Given the description of an element on the screen output the (x, y) to click on. 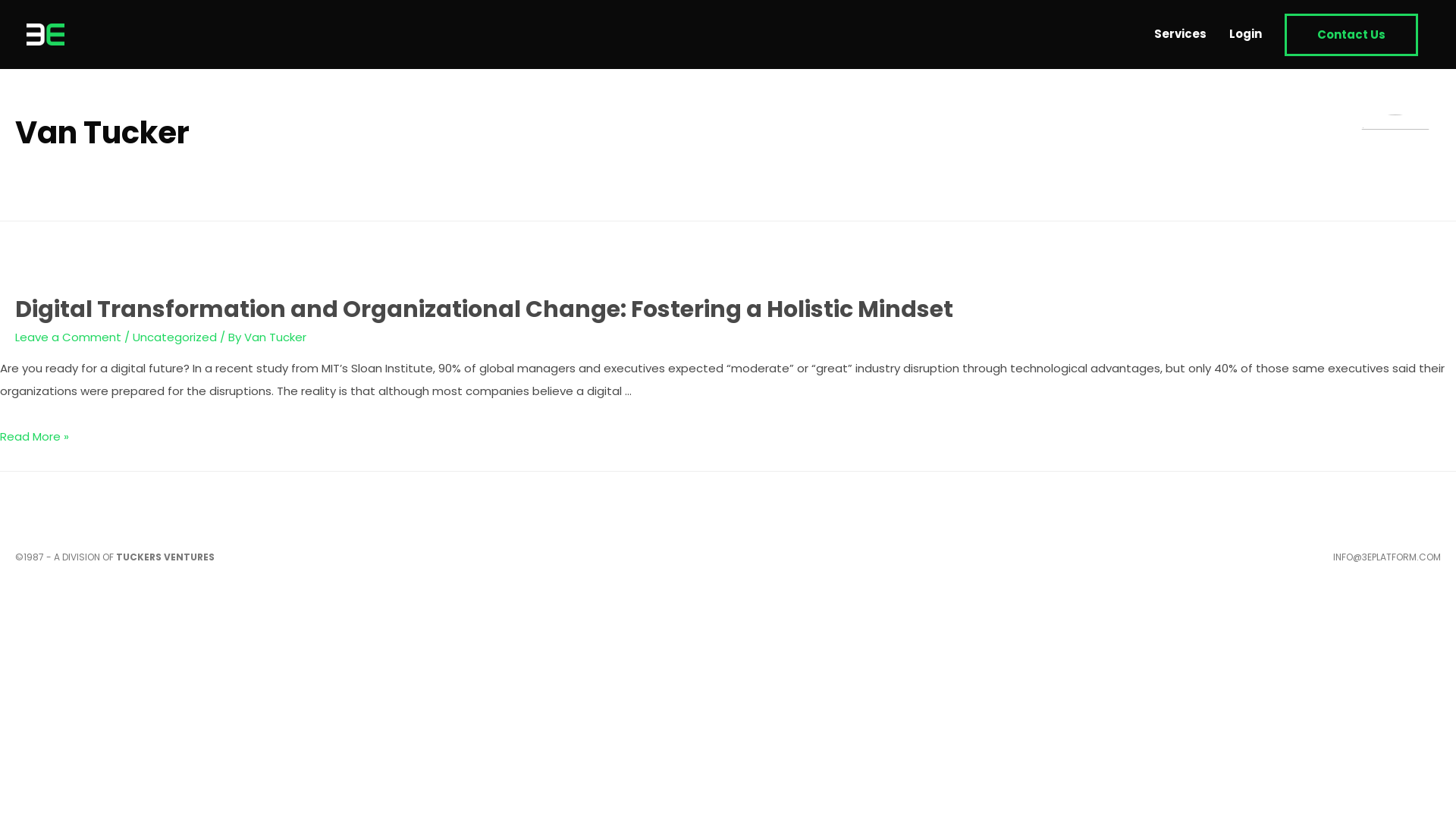
Contact Us Element type: text (1351, 34)
Contact Us Element type: text (1351, 34)
Login Element type: text (1245, 33)
Uncategorized Element type: text (174, 337)
Services Element type: text (1179, 33)
Van Tucker Element type: text (275, 337)
Leave a Comment Element type: text (68, 337)
